Given the description of an element on the screen output the (x, y) to click on. 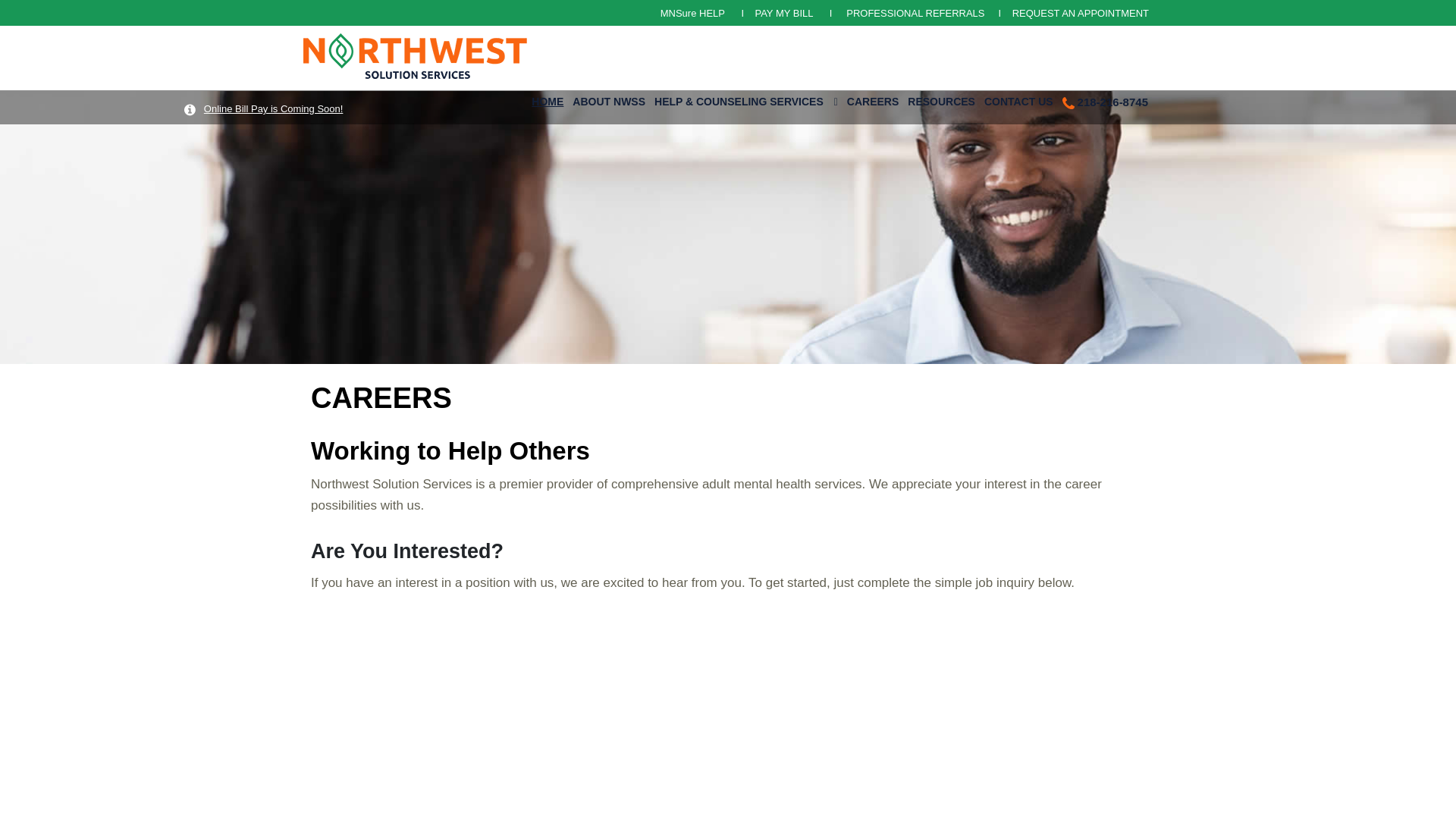
MNSure HELP      I     (708, 12)
    I    REQUEST AN APPOINTMENT (1067, 12)
PAY MY BILL      I     (798, 12)
CONTACT US (1018, 99)
PROFESSIONAL REFERRALS (916, 12)
ABOUT NWSS (608, 99)
Online Bill Pay is Coming Soon! (273, 108)
RESOURCES (940, 99)
HOME (547, 99)
CAREERS (872, 99)
